Given the description of an element on the screen output the (x, y) to click on. 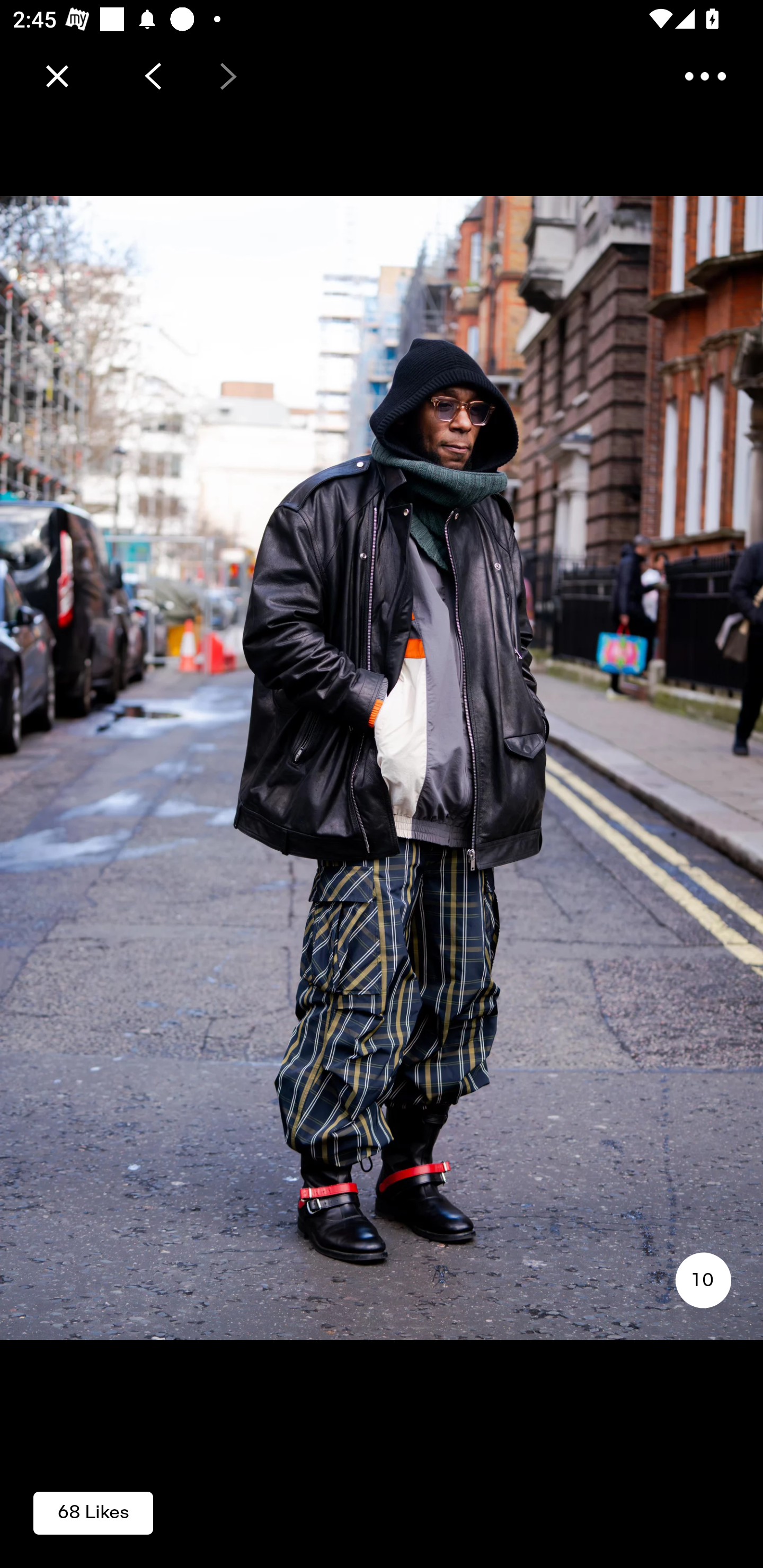
10 (702, 1279)
68 Likes (93, 1512)
